Given the description of an element on the screen output the (x, y) to click on. 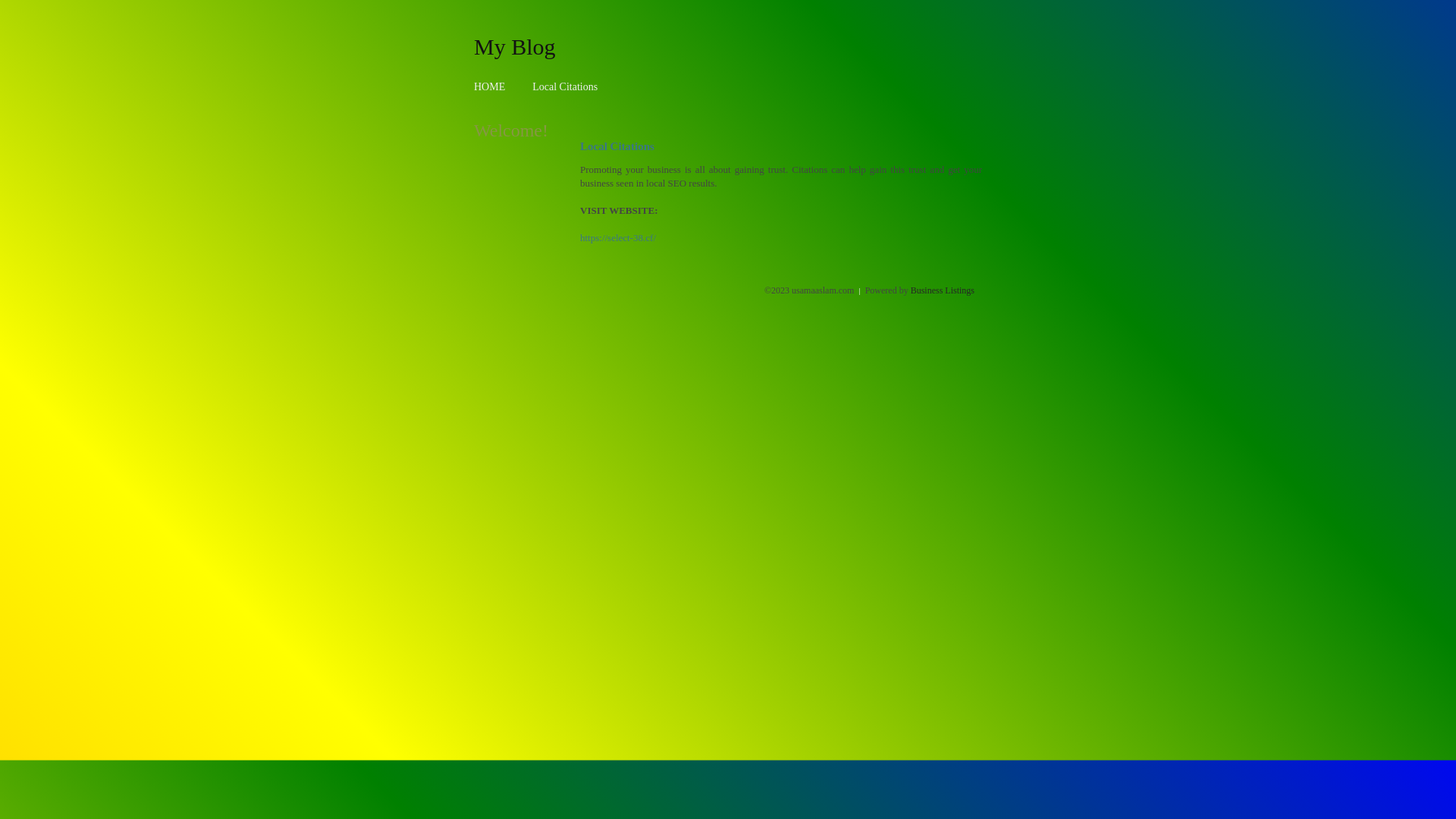
Local Citations Element type: text (564, 86)
HOME Element type: text (489, 86)
My Blog Element type: text (514, 46)
Business Listings Element type: text (942, 290)
https://select-38.cf/ Element type: text (617, 237)
